Given the description of an element on the screen output the (x, y) to click on. 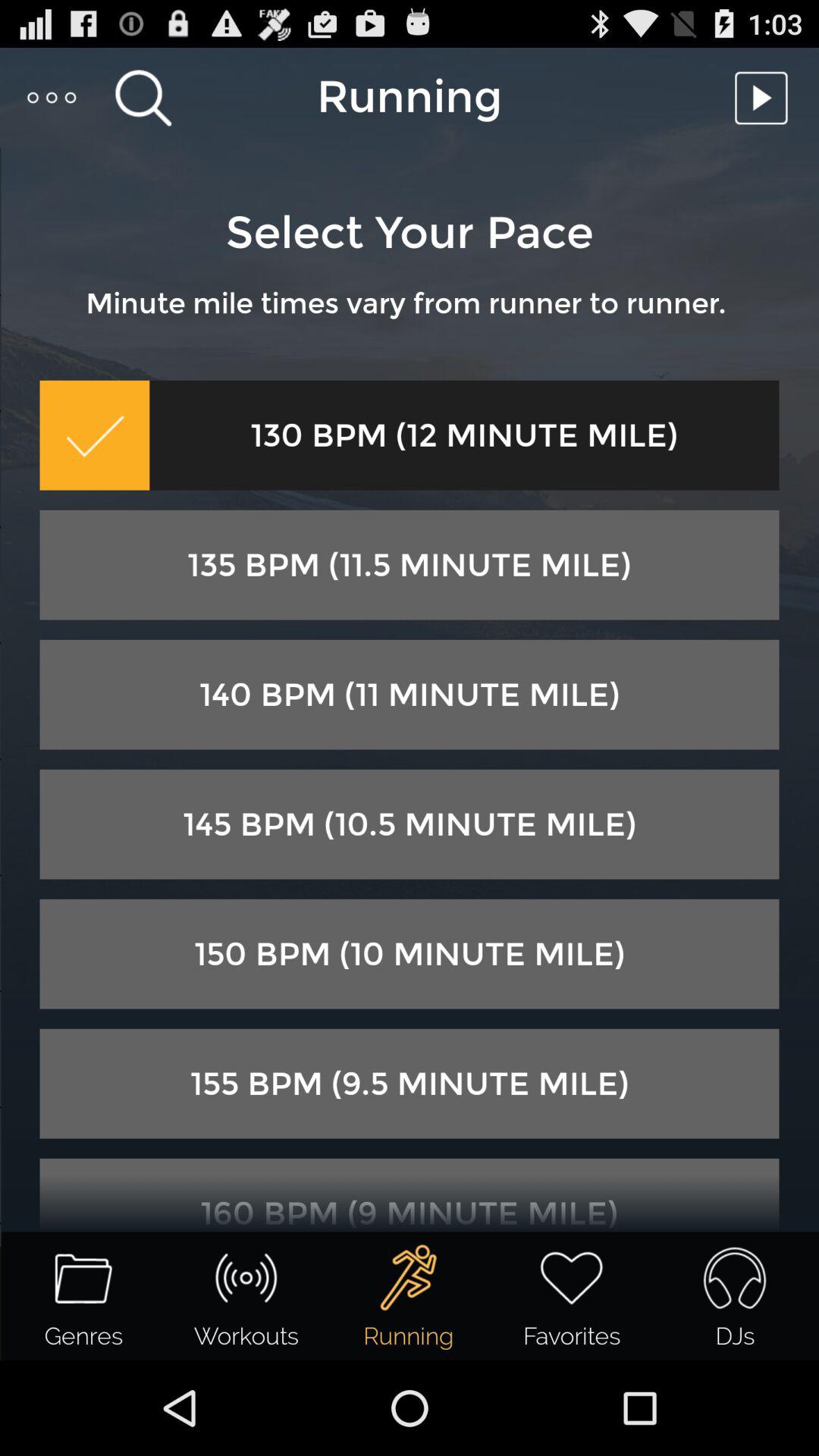
turn off icon to the left of 130 bpm 12 (94, 435)
